Given the description of an element on the screen output the (x, y) to click on. 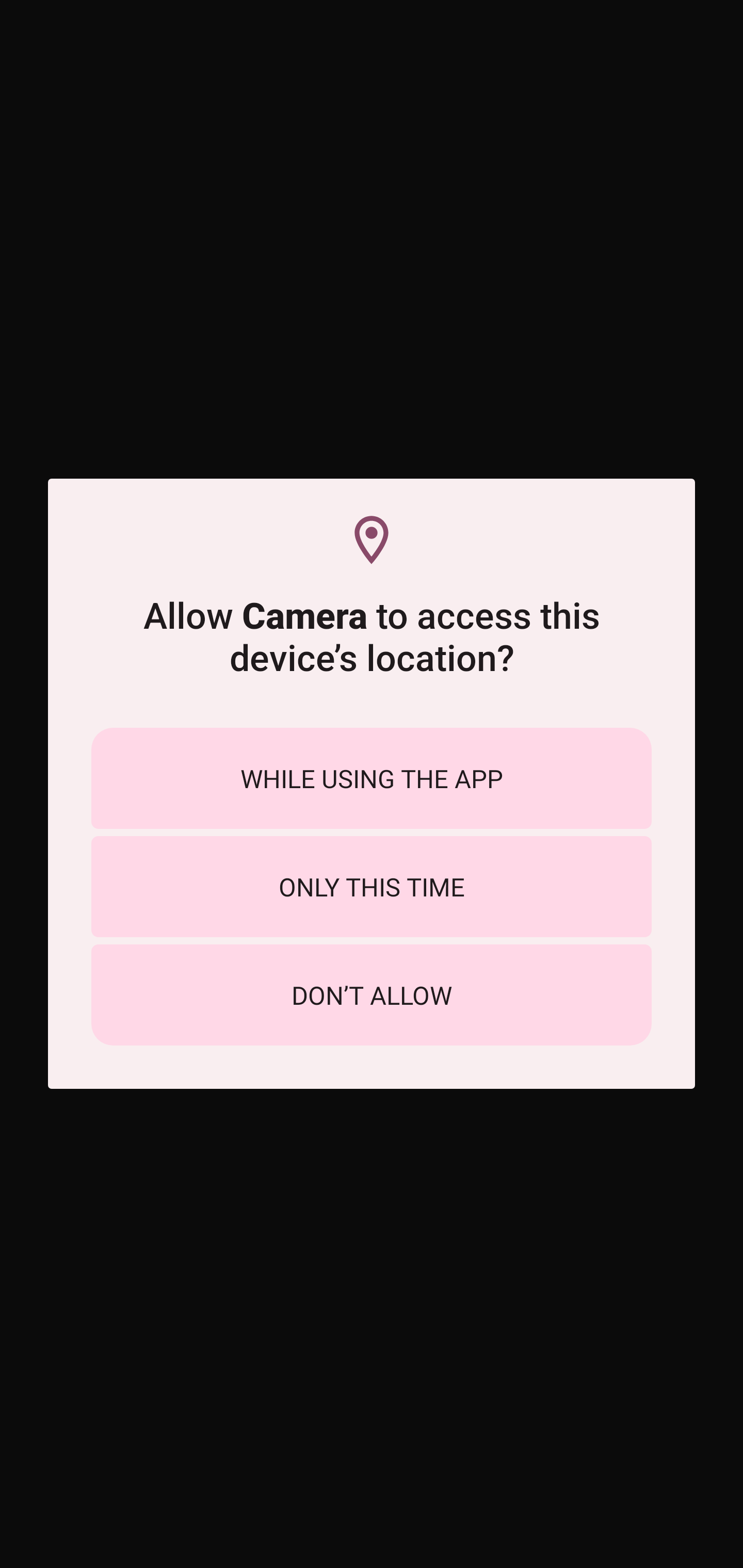
WHILE USING THE APP (371, 778)
ONLY THIS TIME (371, 886)
DON’T ALLOW (371, 994)
